Given the description of an element on the screen output the (x, y) to click on. 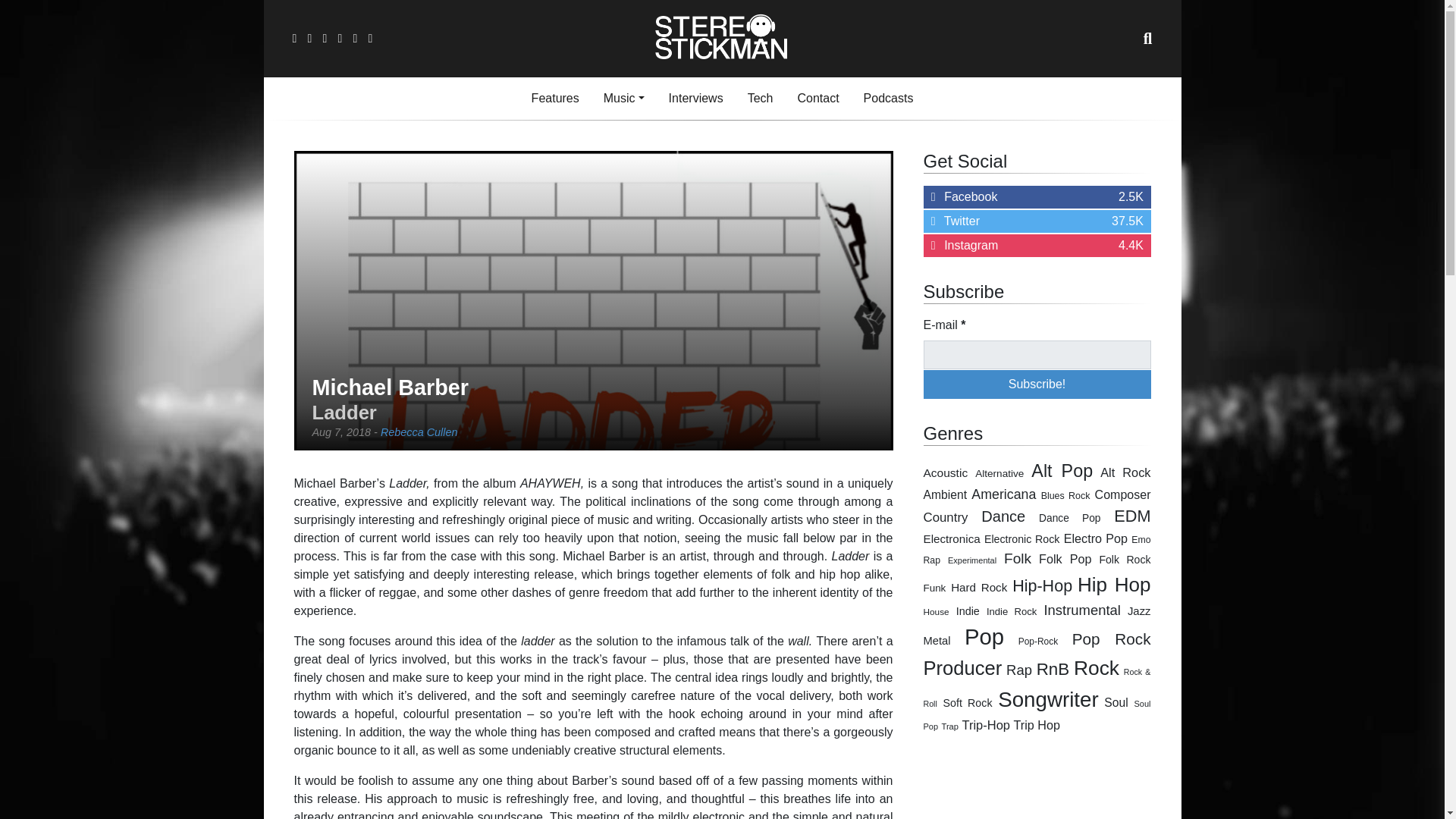
Interviews (695, 98)
Podcasts (888, 98)
Contact (817, 98)
Music (623, 98)
E-mail (1037, 354)
Features (555, 98)
Subscribe! (1037, 384)
Podcasts (888, 98)
Subscribe! (1037, 384)
Interviews (695, 98)
